Given the description of an element on the screen output the (x, y) to click on. 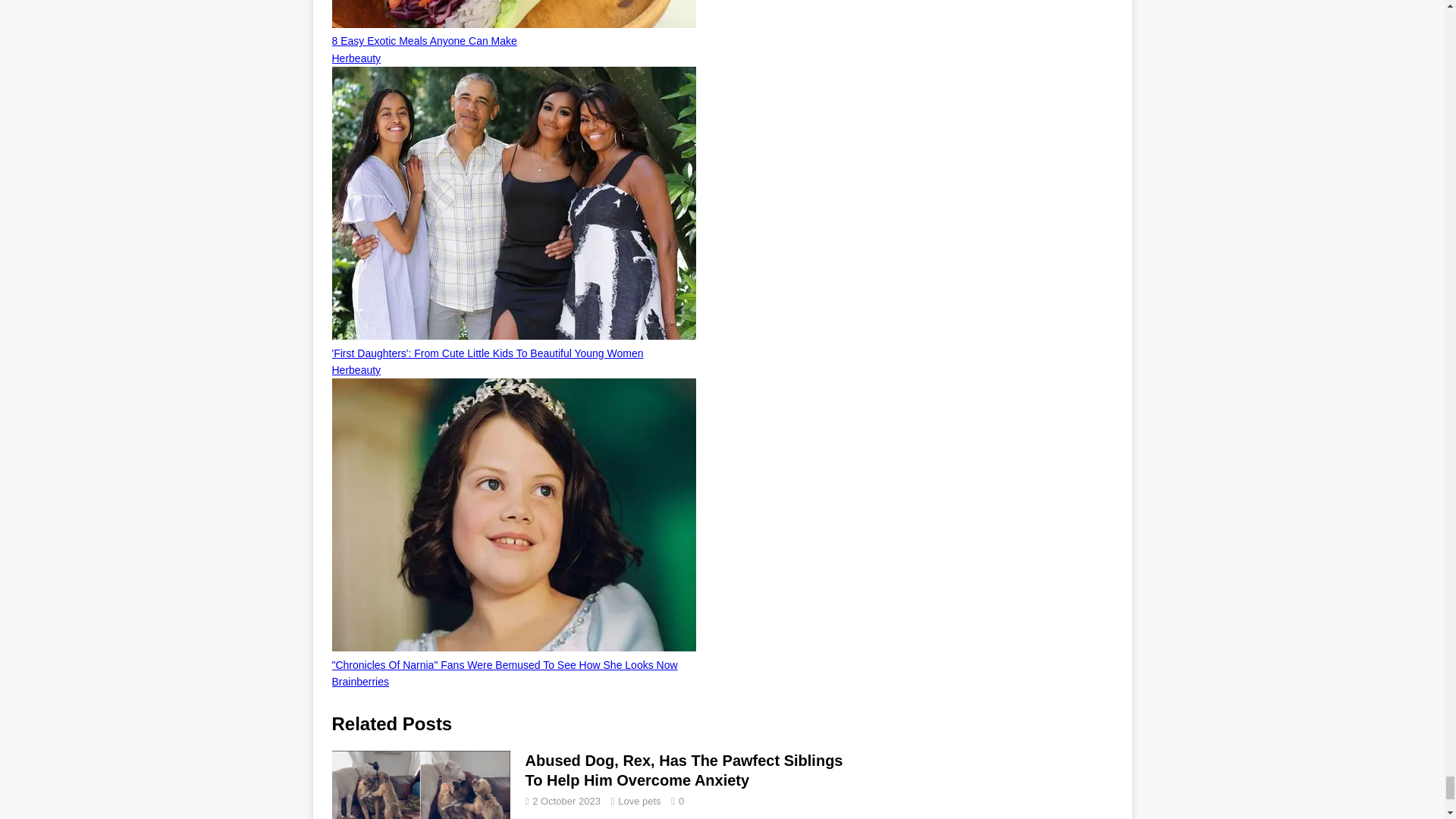
Love pets (639, 800)
